Given the description of an element on the screen output the (x, y) to click on. 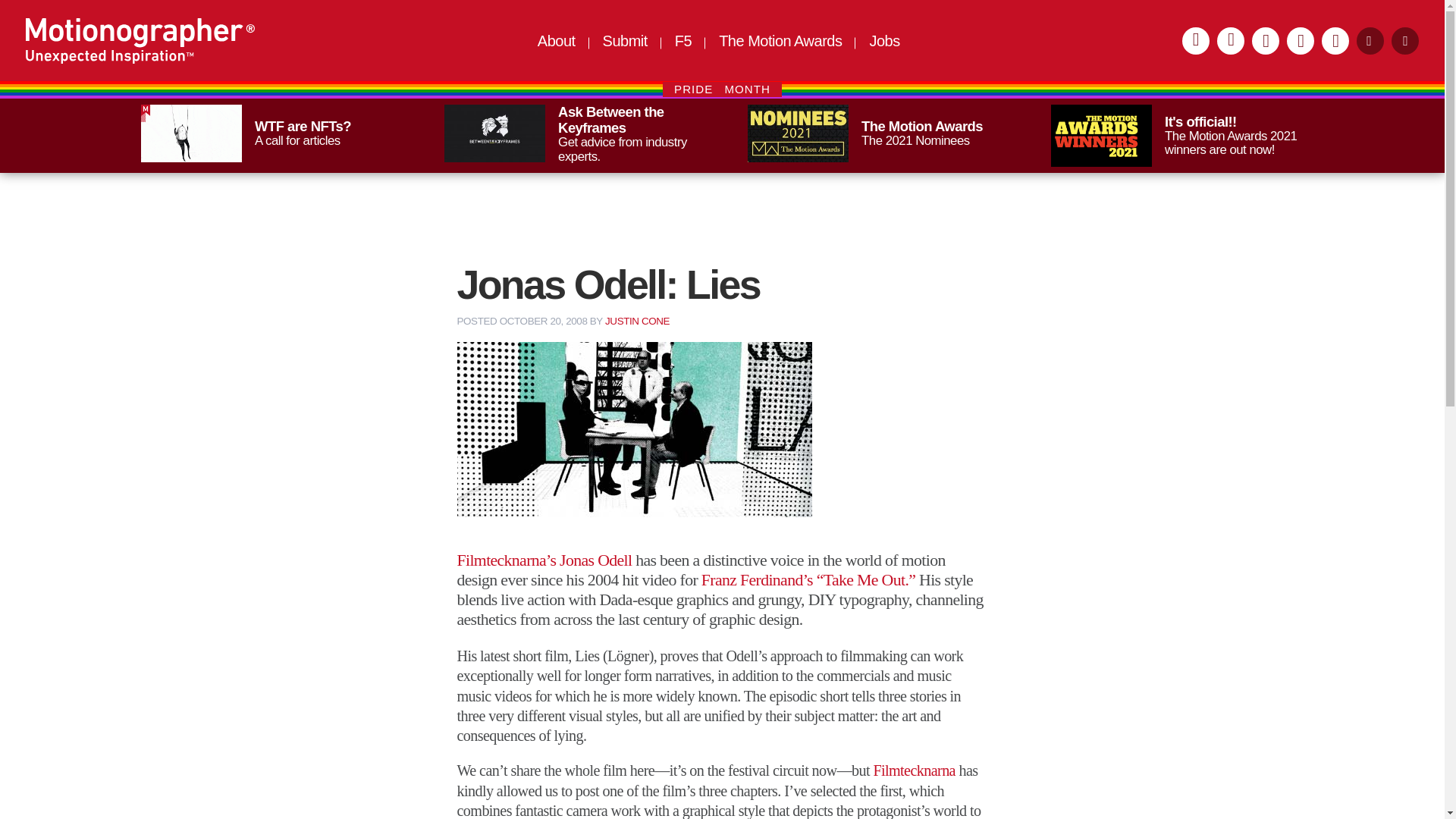
About (556, 40)
The Motion Awards (780, 40)
Jobs (884, 40)
Job Board (884, 40)
Search Motionographer (1404, 40)
F5 (683, 40)
Motionographer Twitter Account (570, 133)
Motionographer Newsletter (1335, 40)
Motionographer Facebook Page (874, 132)
Filmtecknarna (1370, 40)
Motionographer Vimeo (1300, 40)
JUSTIN CONE (913, 770)
Submit (1265, 40)
